Given the description of an element on the screen output the (x, y) to click on. 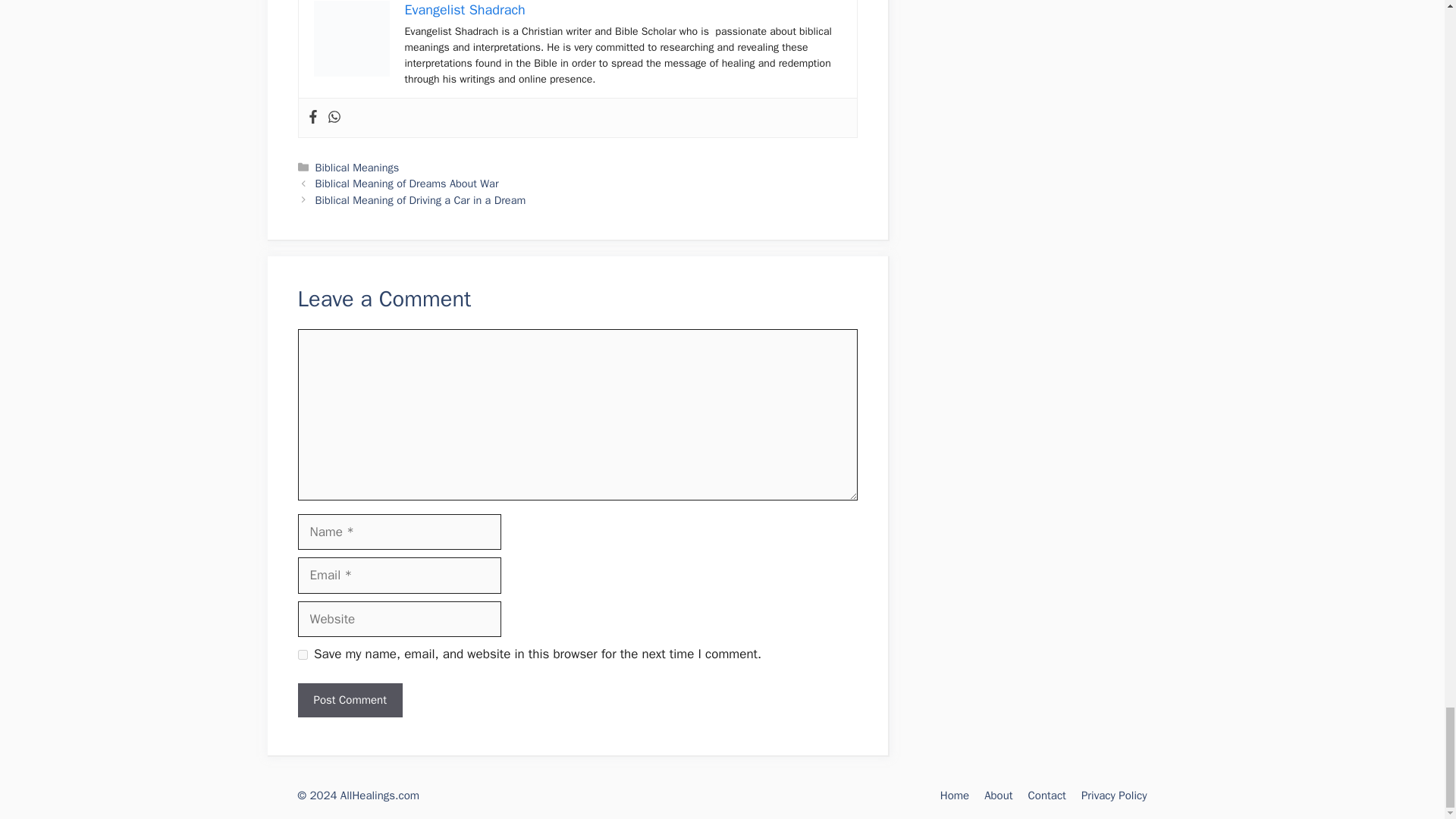
Biblical Meaning of Dreams About War (407, 183)
Biblical Meaning of Driving a Car in a Dream (420, 200)
Post Comment (349, 700)
Biblical Meanings (356, 167)
Post Comment (349, 700)
yes (302, 655)
Evangelist Shadrach (464, 9)
Home (954, 795)
Privacy Policy (1114, 795)
Contact (1046, 795)
About (997, 795)
